Given the description of an element on the screen output the (x, y) to click on. 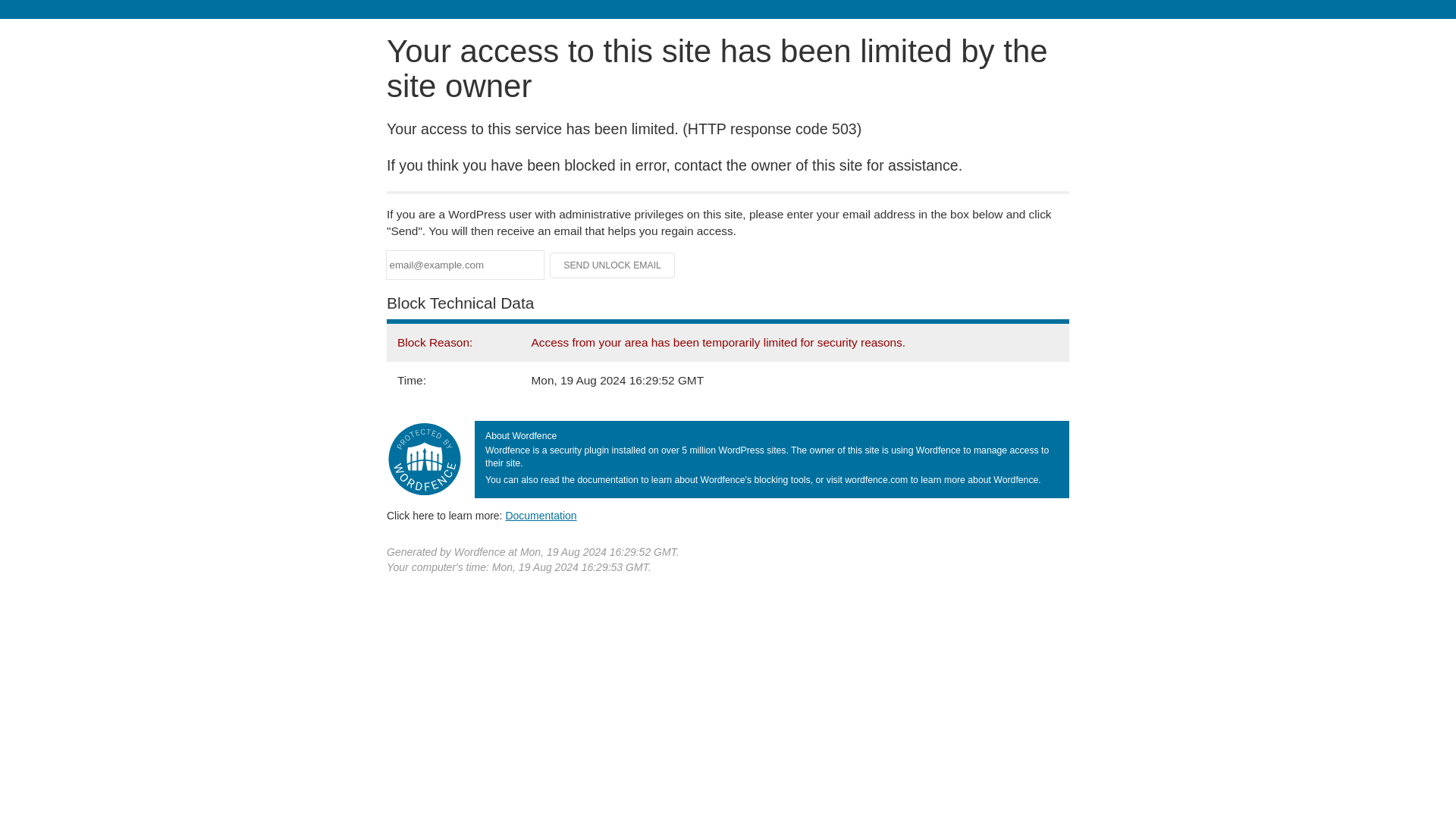
Send Unlock Email (612, 265)
Send Unlock Email (612, 265)
Documentation (540, 515)
